Given the description of an element on the screen output the (x, y) to click on. 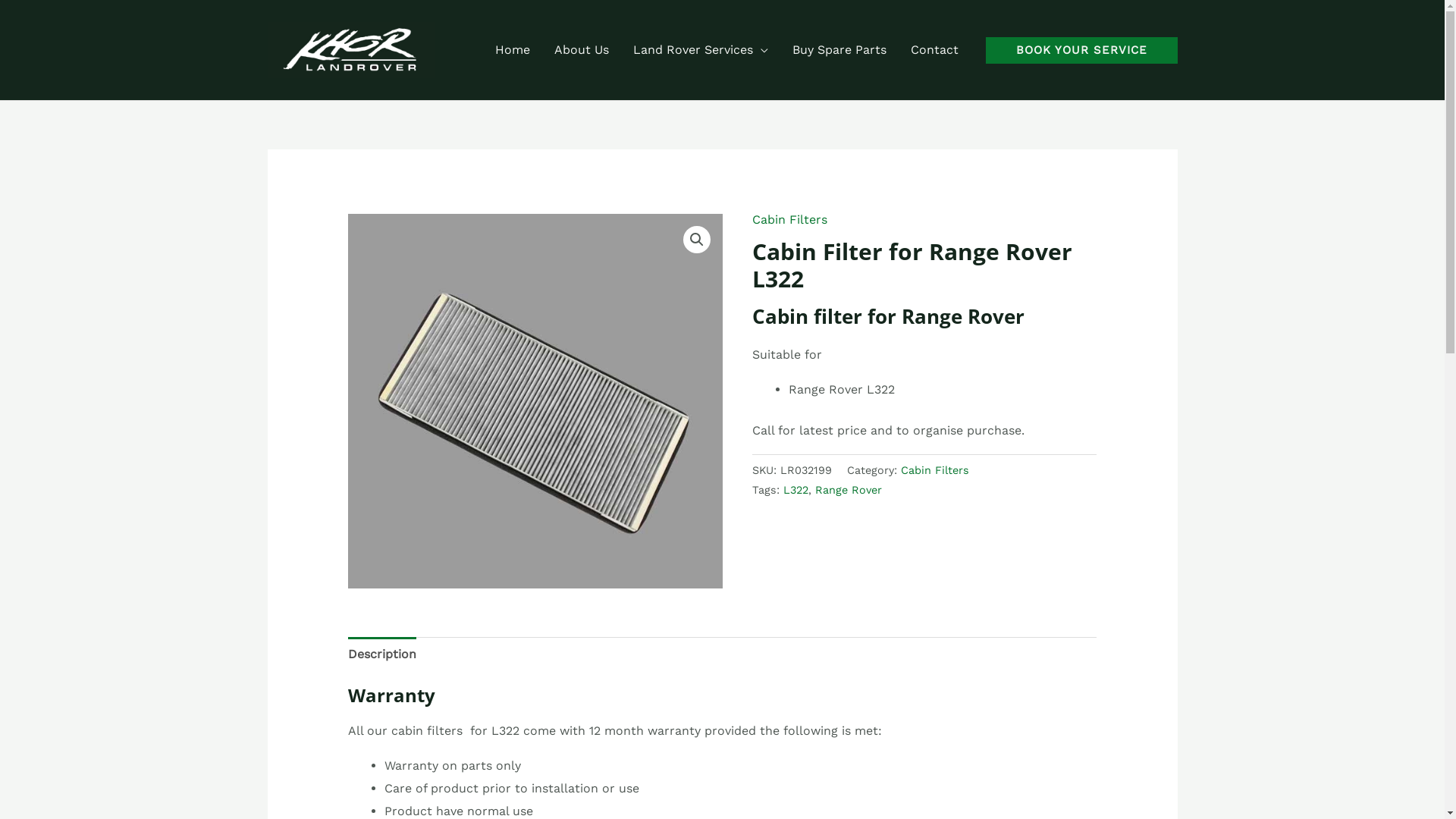
Cabin Filters Element type: text (934, 470)
Description Element type: text (382, 654)
cabin filter for range rover L322 Element type: hover (534, 400)
Contact Element type: text (933, 49)
Range Rover Element type: text (848, 489)
L322 Element type: text (795, 489)
Cabin Filters Element type: text (789, 219)
BOOK YOUR SERVICE Element type: text (1081, 49)
Buy Spare Parts Element type: text (838, 49)
Land Rover Services Element type: text (699, 49)
About Us Element type: text (580, 49)
Home Element type: text (511, 49)
